Given the description of an element on the screen output the (x, y) to click on. 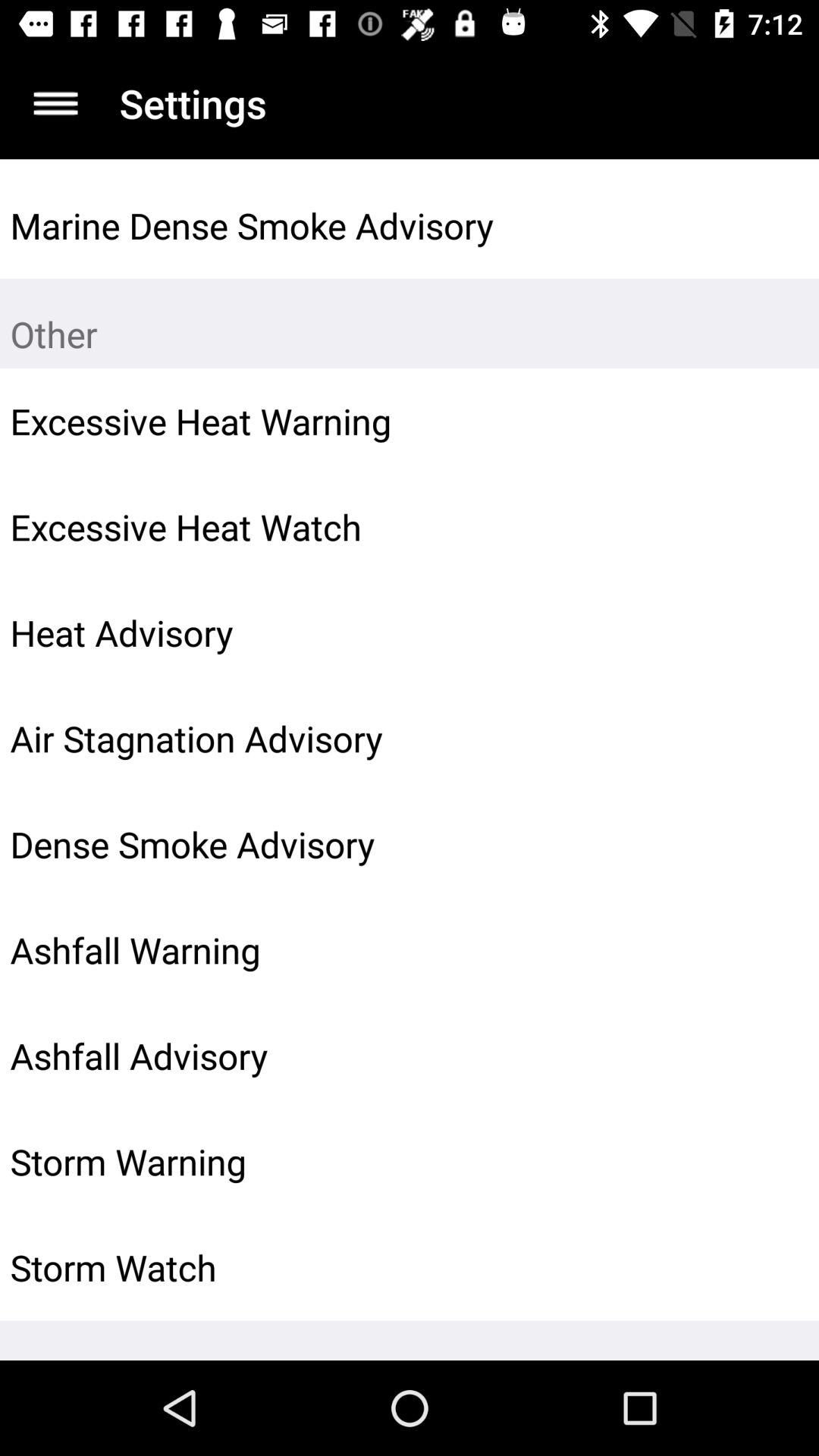
launch item to the right of the ashfall advisory item (771, 1056)
